Given the description of an element on the screen output the (x, y) to click on. 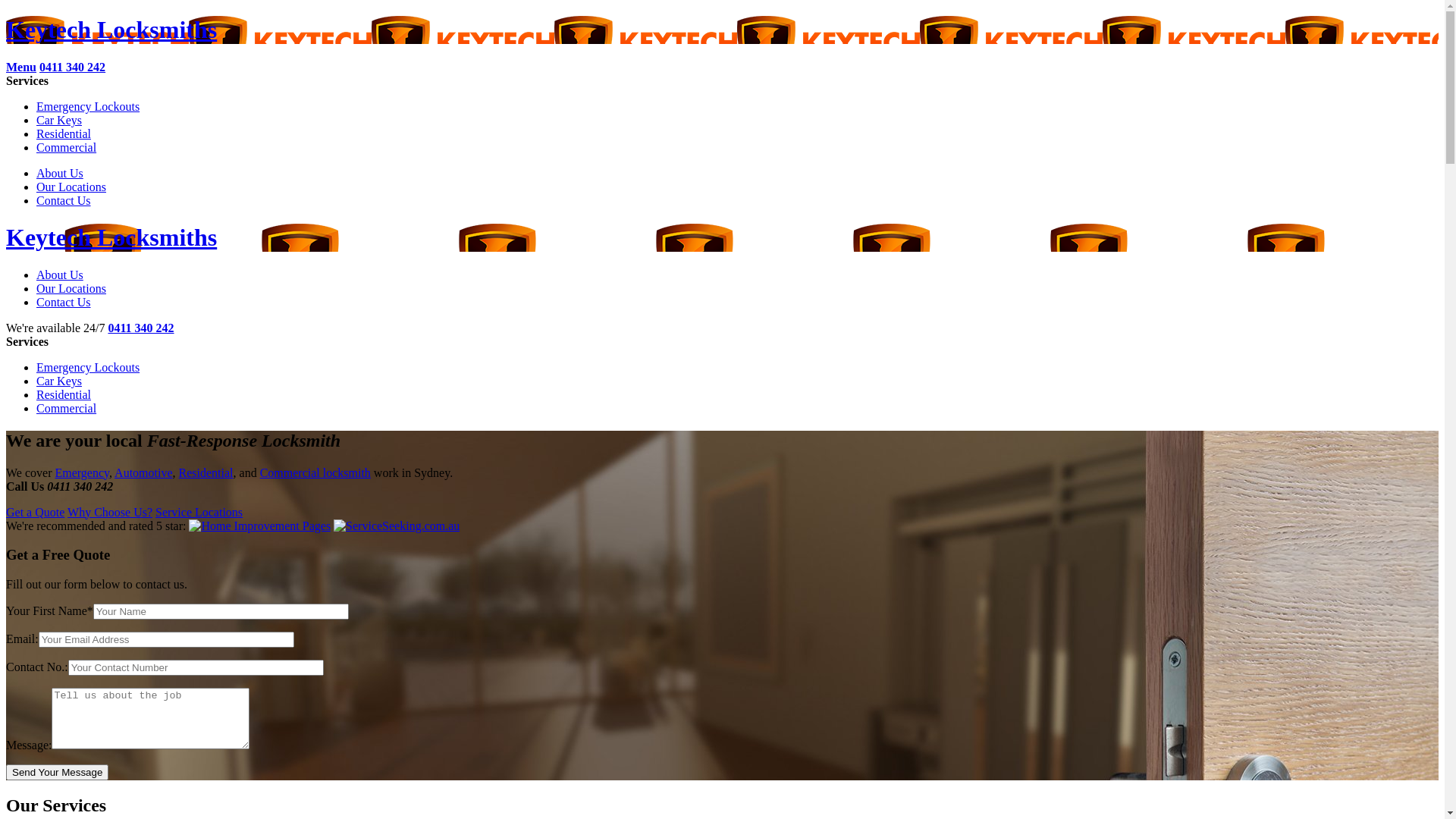
Contact Us Element type: text (63, 301)
Emergency Element type: text (81, 472)
Keytech Locksmiths Element type: text (111, 237)
About Us Element type: text (59, 172)
Contact Us Element type: text (63, 200)
Emergency Lockouts Element type: text (87, 106)
0411 340 242 Element type: text (72, 66)
Send Your Message Element type: text (57, 772)
Commercial Element type: text (66, 407)
Keytech Locksmiths Element type: text (111, 29)
Our Locations Element type: text (71, 186)
Emergency Lockouts Element type: text (87, 366)
Automotive Element type: text (143, 472)
Car Keys Element type: text (58, 119)
Residential Element type: text (63, 394)
Service Locations Element type: text (198, 511)
Get a Quote Element type: text (35, 511)
Why Choose Us? Element type: text (109, 511)
Commercial locksmith Element type: text (315, 472)
About Us Element type: text (59, 274)
0411 340 242 Element type: text (140, 327)
Residential Element type: text (63, 133)
Our Locations Element type: text (71, 288)
Residential Element type: text (205, 472)
Car Keys Element type: text (58, 380)
Menu Element type: text (21, 66)
Commercial Element type: text (66, 147)
